Given the description of an element on the screen output the (x, y) to click on. 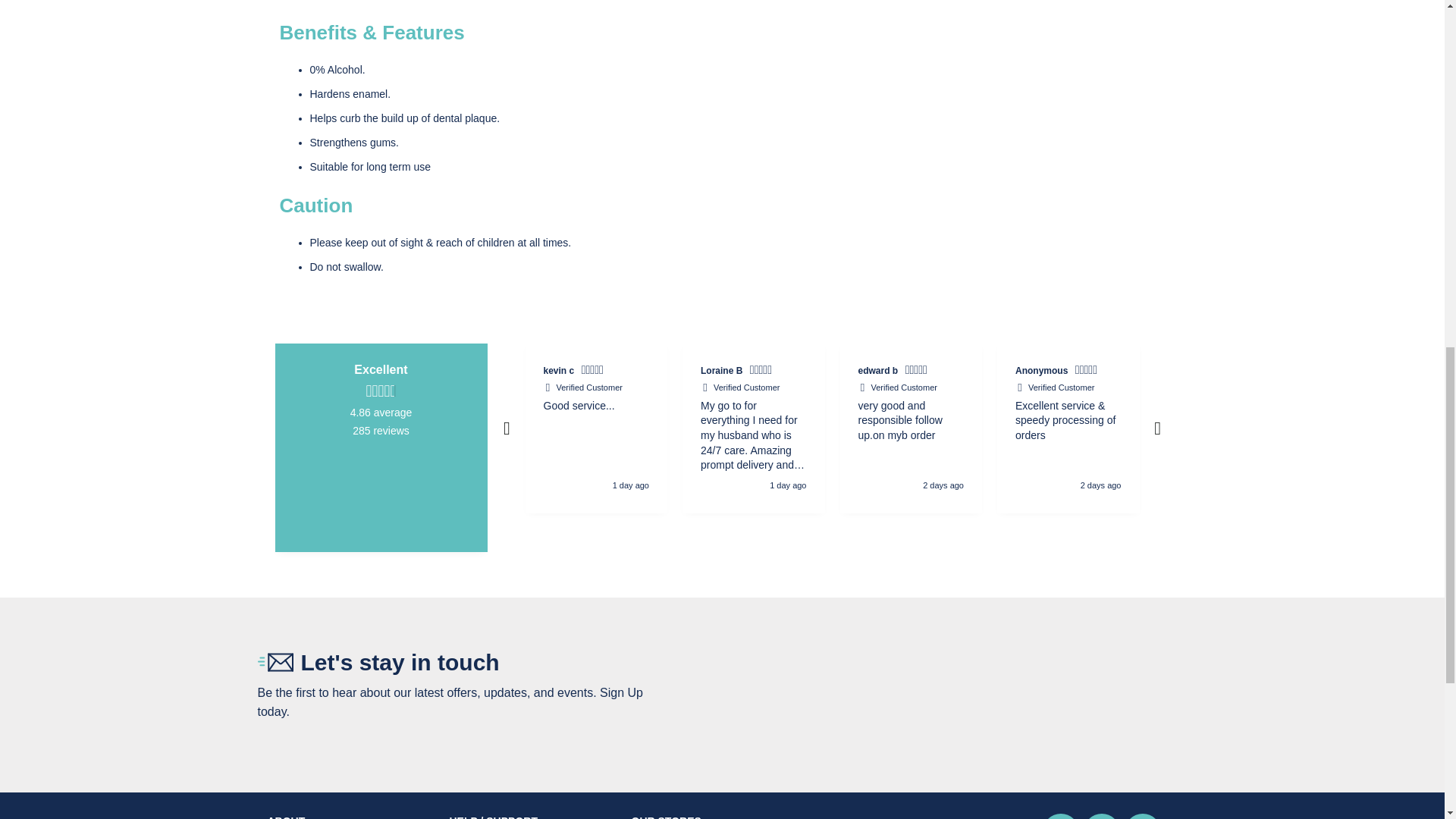
Read more reviews on REVIEWS.io (380, 488)
5 Stars (1087, 371)
5 Stars (593, 371)
4.86 Stars (380, 391)
1 Stars (1374, 371)
5 Stars (918, 371)
5 Stars (762, 371)
5 Stars (1225, 371)
